Given the description of an element on the screen output the (x, y) to click on. 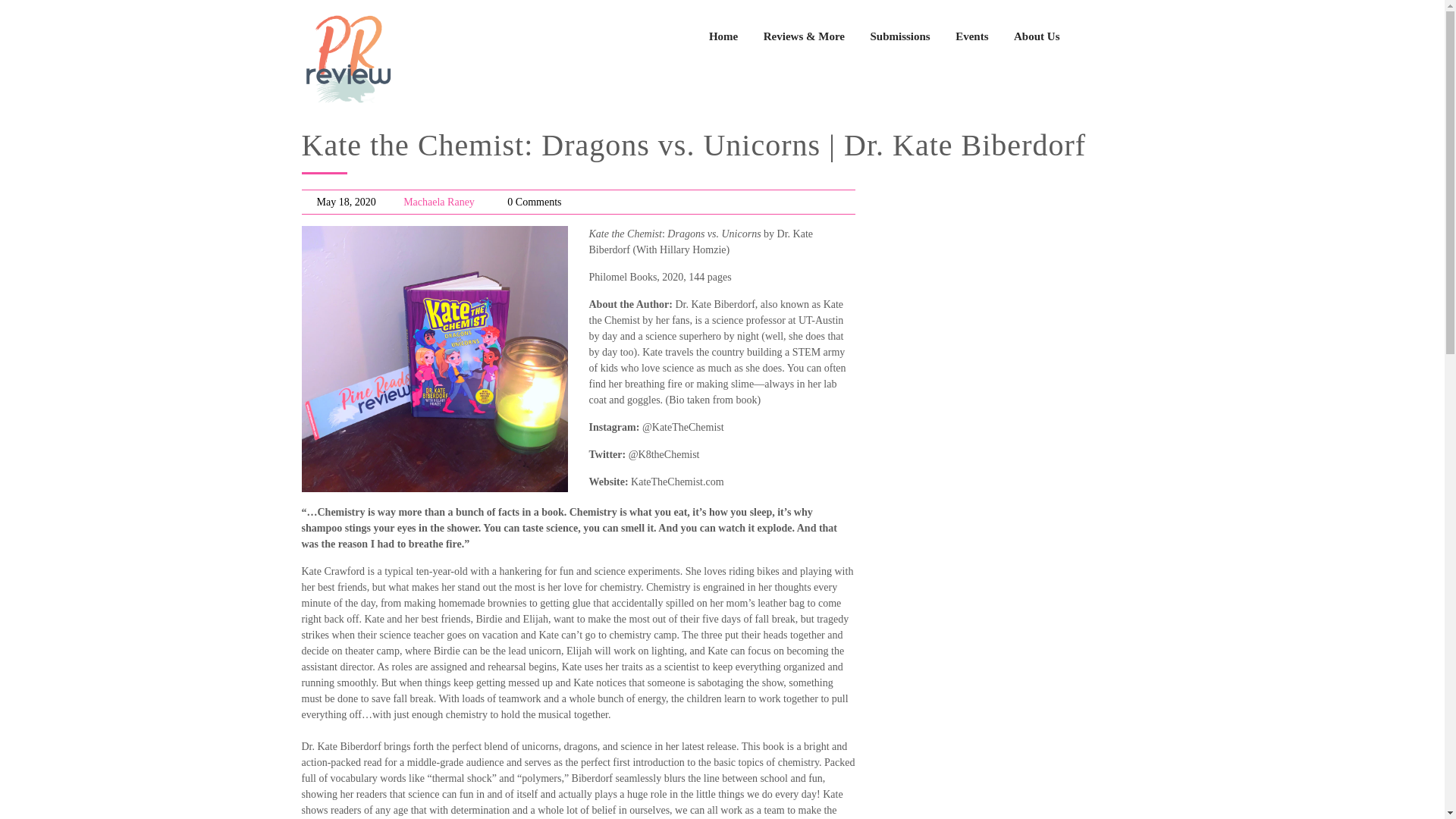
Events (971, 36)
Submissions (899, 36)
About Us (1036, 36)
Machaela Raney (438, 202)
Home (723, 36)
